Given the description of an element on the screen output the (x, y) to click on. 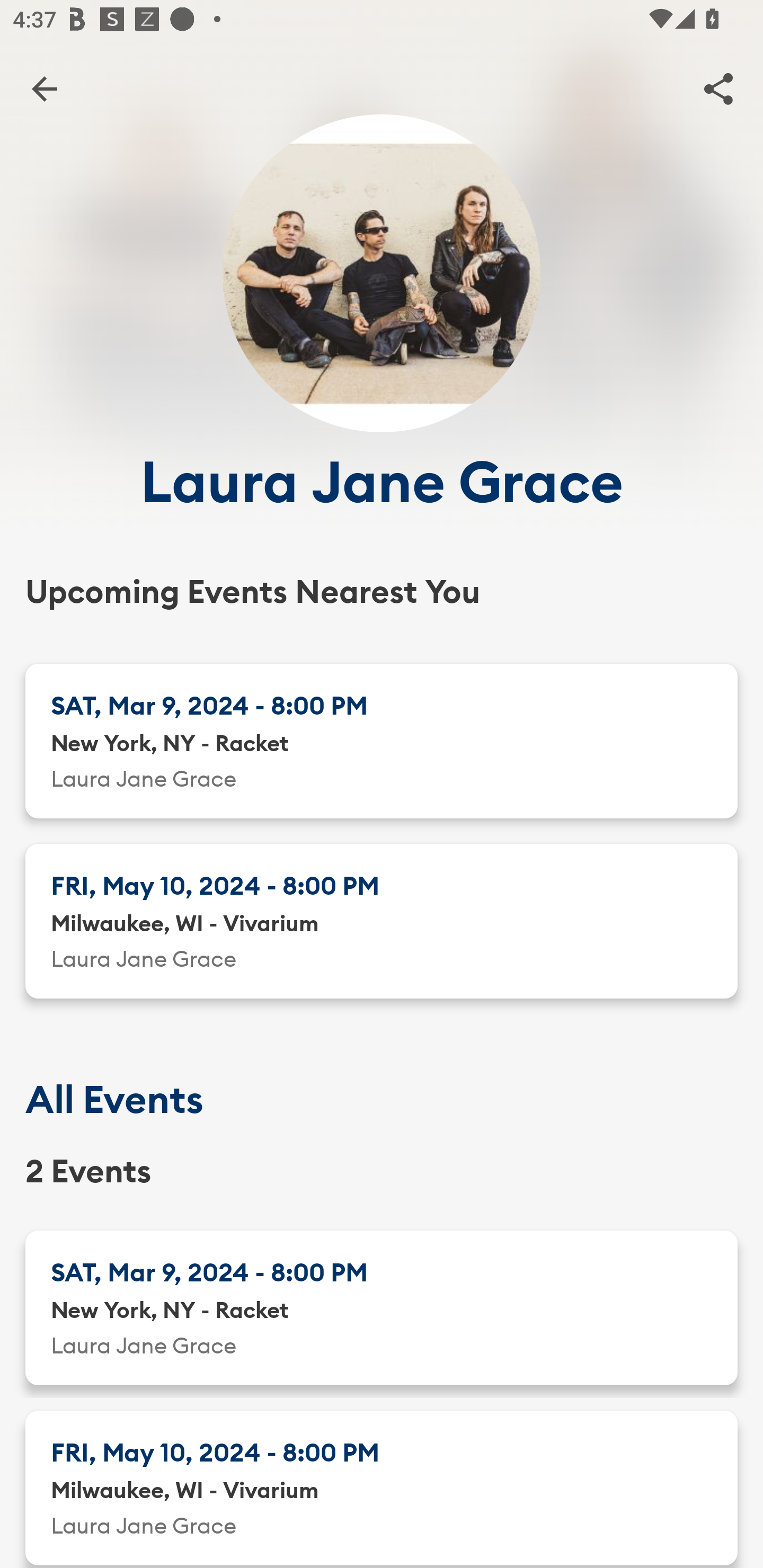
BackButton (44, 88)
Share (718, 88)
